Given the description of an element on the screen output the (x, y) to click on. 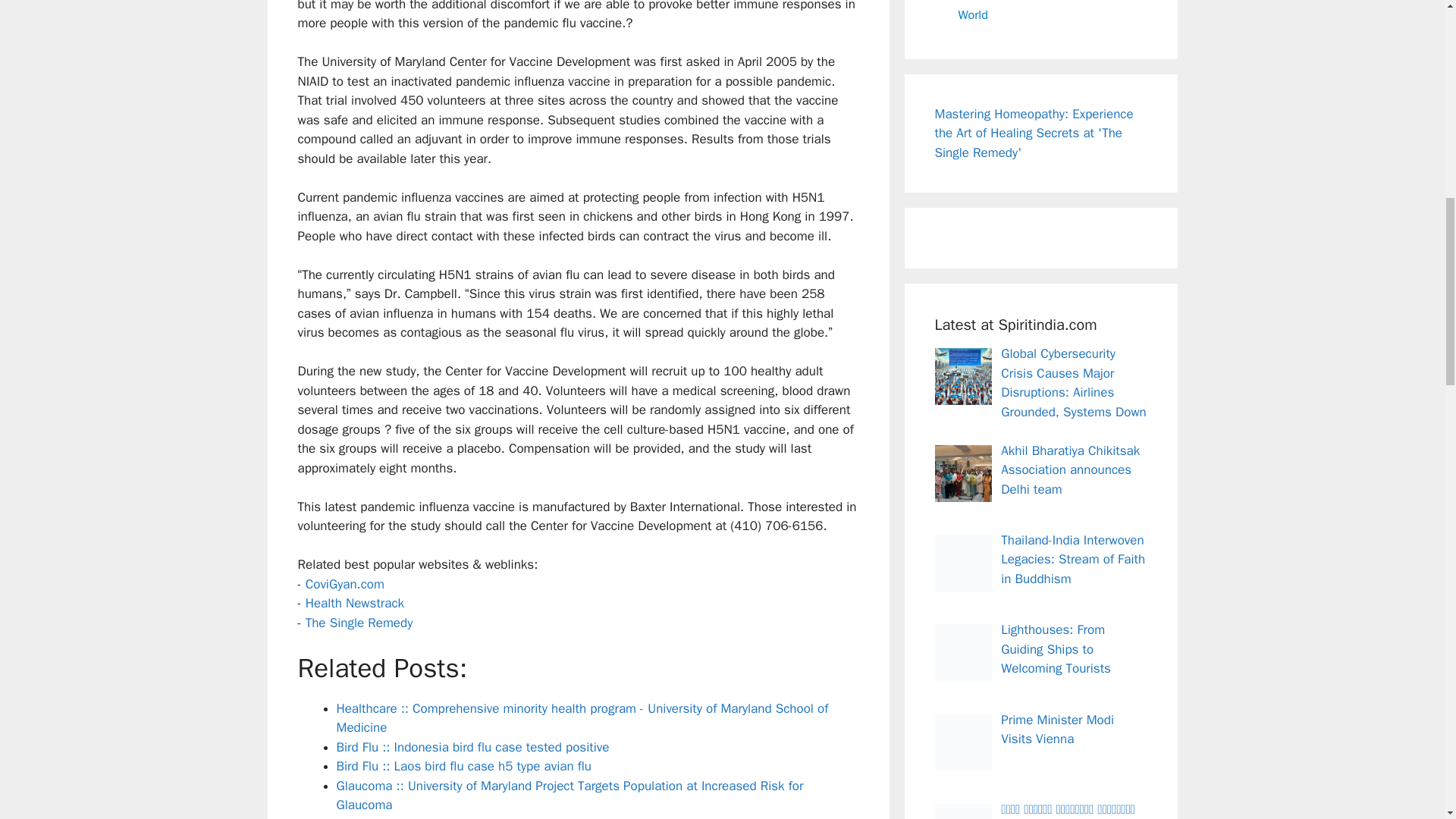
Bird Flu :: Indonesia bird flu case tested positive (473, 747)
Health Newstrack (354, 602)
CoviGyan.com (344, 584)
The Single Remedy (359, 622)
Bird Flu :: Laos bird flu case h5 type avian flu (463, 765)
